Given the description of an element on the screen output the (x, y) to click on. 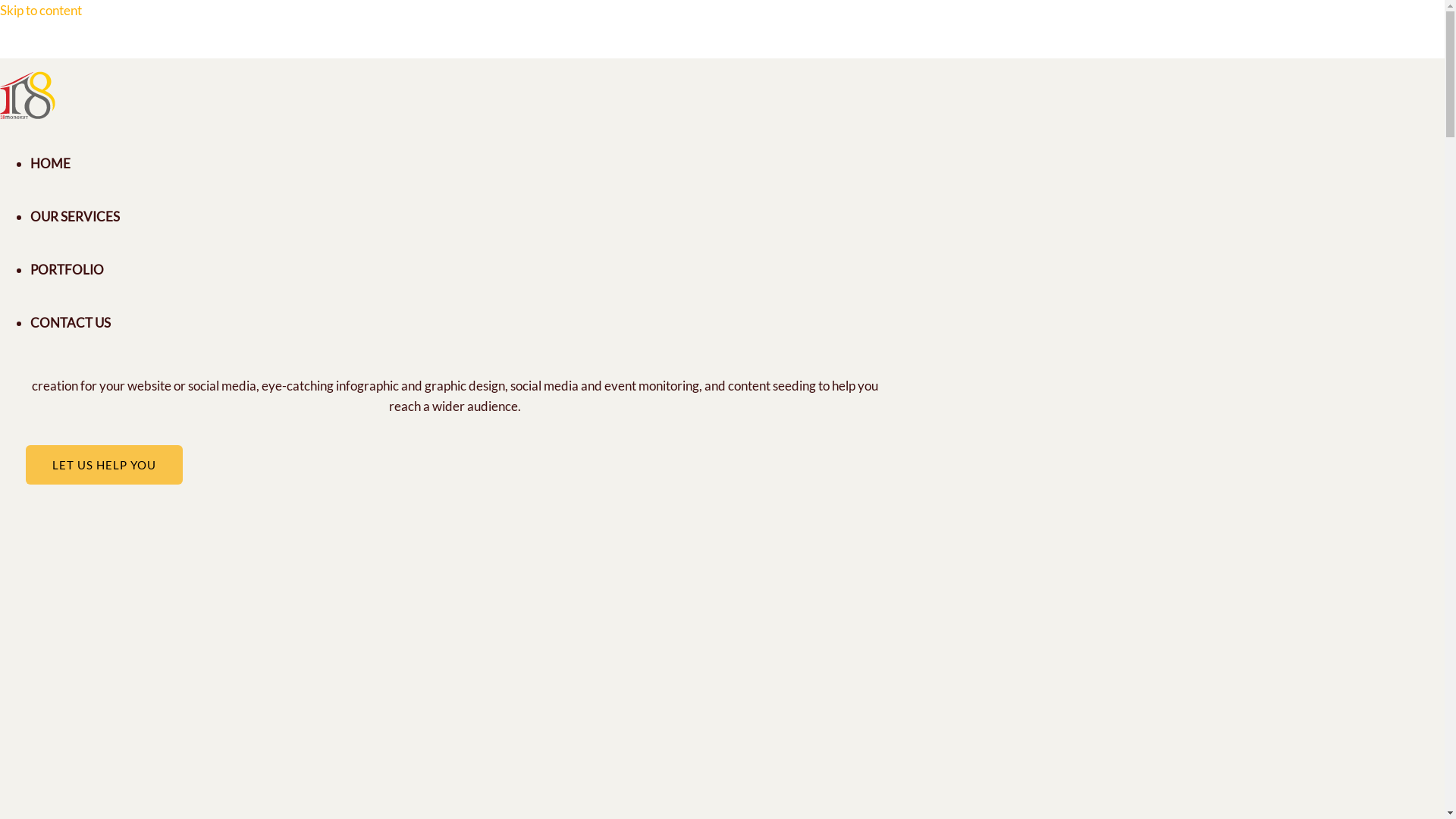
Skip to content Element type: text (40, 10)
HOME Element type: text (50, 163)
LET US HELP YOU Element type: text (103, 464)
PORTFOLIO Element type: text (66, 269)
CONTACT US Element type: text (70, 322)
OUR SERVICES Element type: text (74, 216)
